Given the description of an element on the screen output the (x, y) to click on. 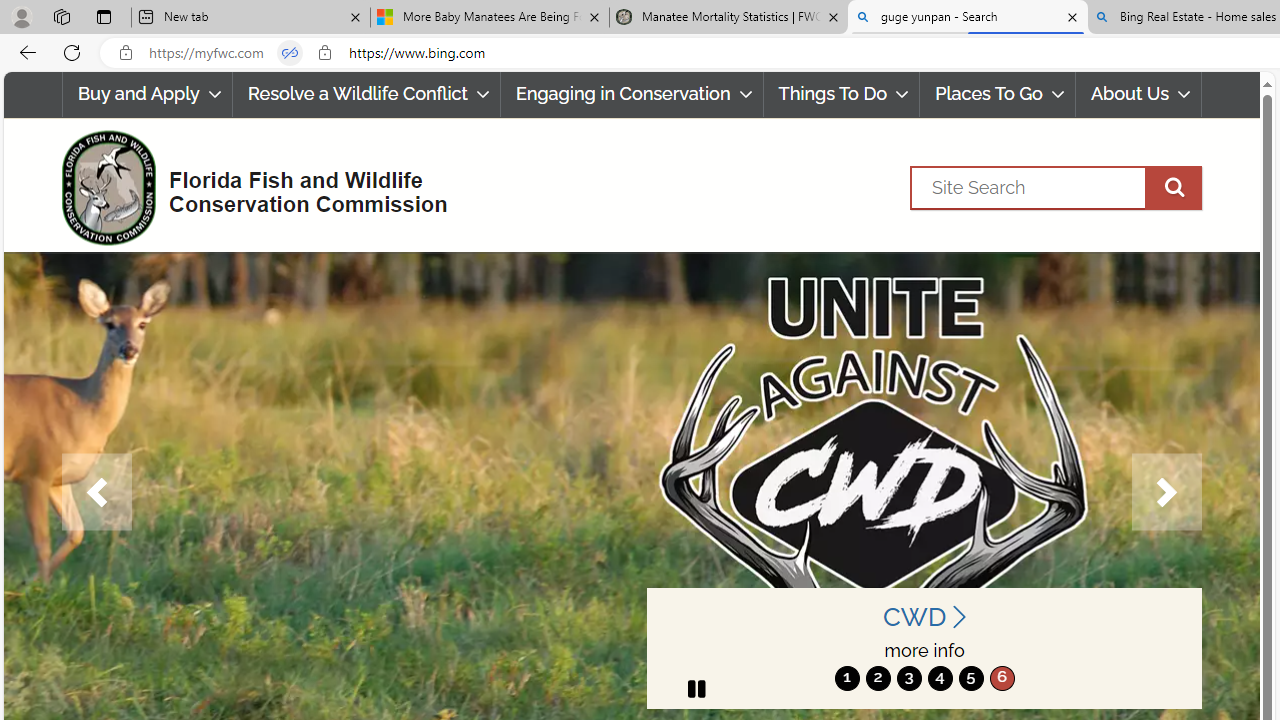
Engaging in Conservation (631, 94)
execute site search (1173, 187)
Engaging in Conservation (632, 94)
move to slide 4 (939, 678)
FWC Logo Florida Fish and Wildlife Conservation Commission (246, 185)
FWC Logo (108, 187)
2 (877, 678)
move to slide 3 (908, 678)
Tab actions menu (104, 16)
3 (908, 678)
6 (1002, 678)
Search (1055, 187)
move to slide 1 (847, 678)
